Given the description of an element on the screen output the (x, y) to click on. 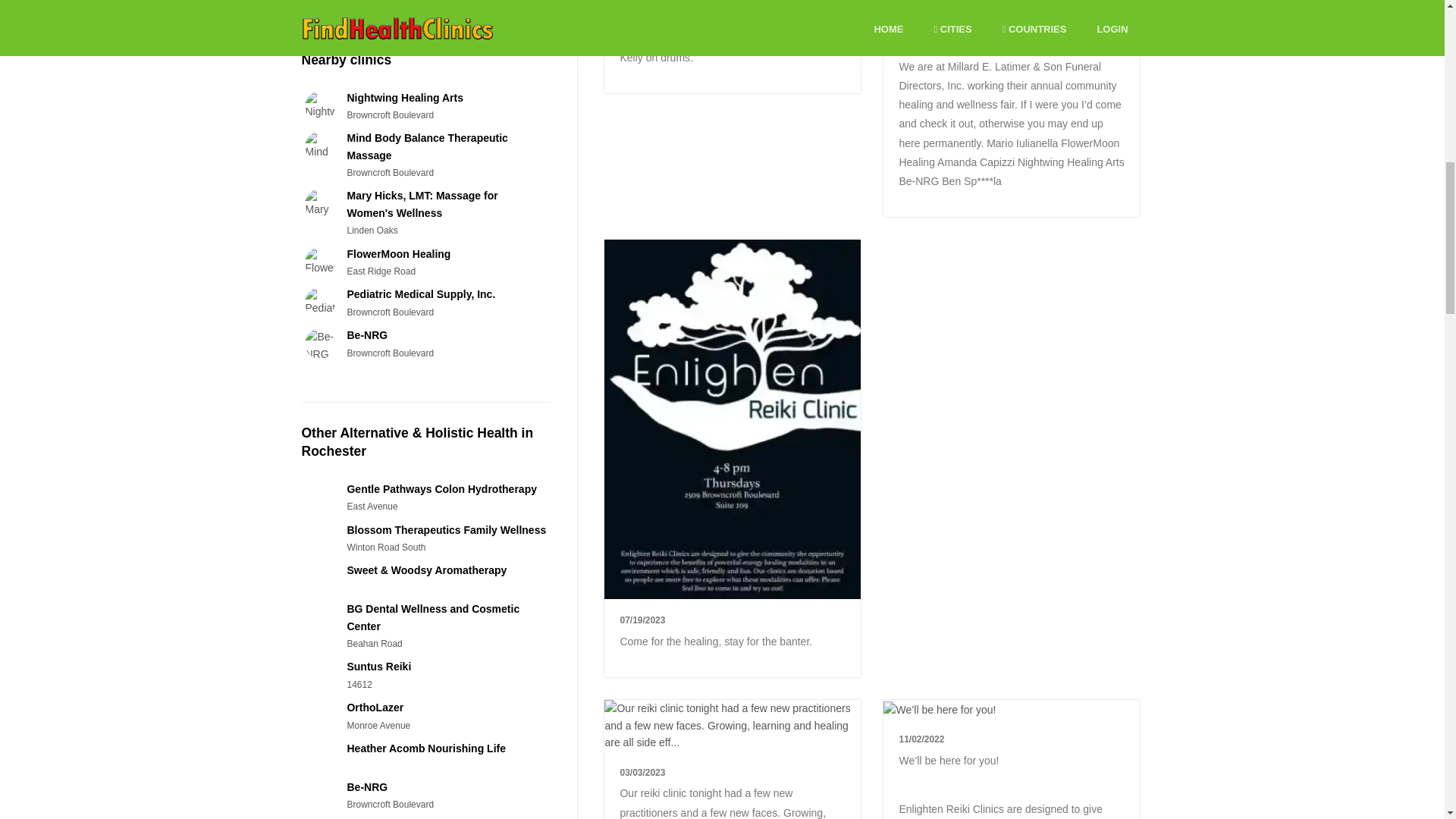
Pediatric Medical Supply, Inc. (420, 294)
Mind Body Balance Therapeutic Massage (426, 145)
Be-NRG (366, 335)
Gentle Pathways Colon Hydrotherapy (441, 489)
FlowerMoon Healing (397, 254)
Mary Hicks, LMT: Massage for Women's Wellness (421, 203)
Suntus Reiki (378, 666)
OrthoLazer (374, 707)
Nightwing Healing Arts (404, 97)
Blossom Therapeutics Family Wellness (446, 530)
